Given the description of an element on the screen output the (x, y) to click on. 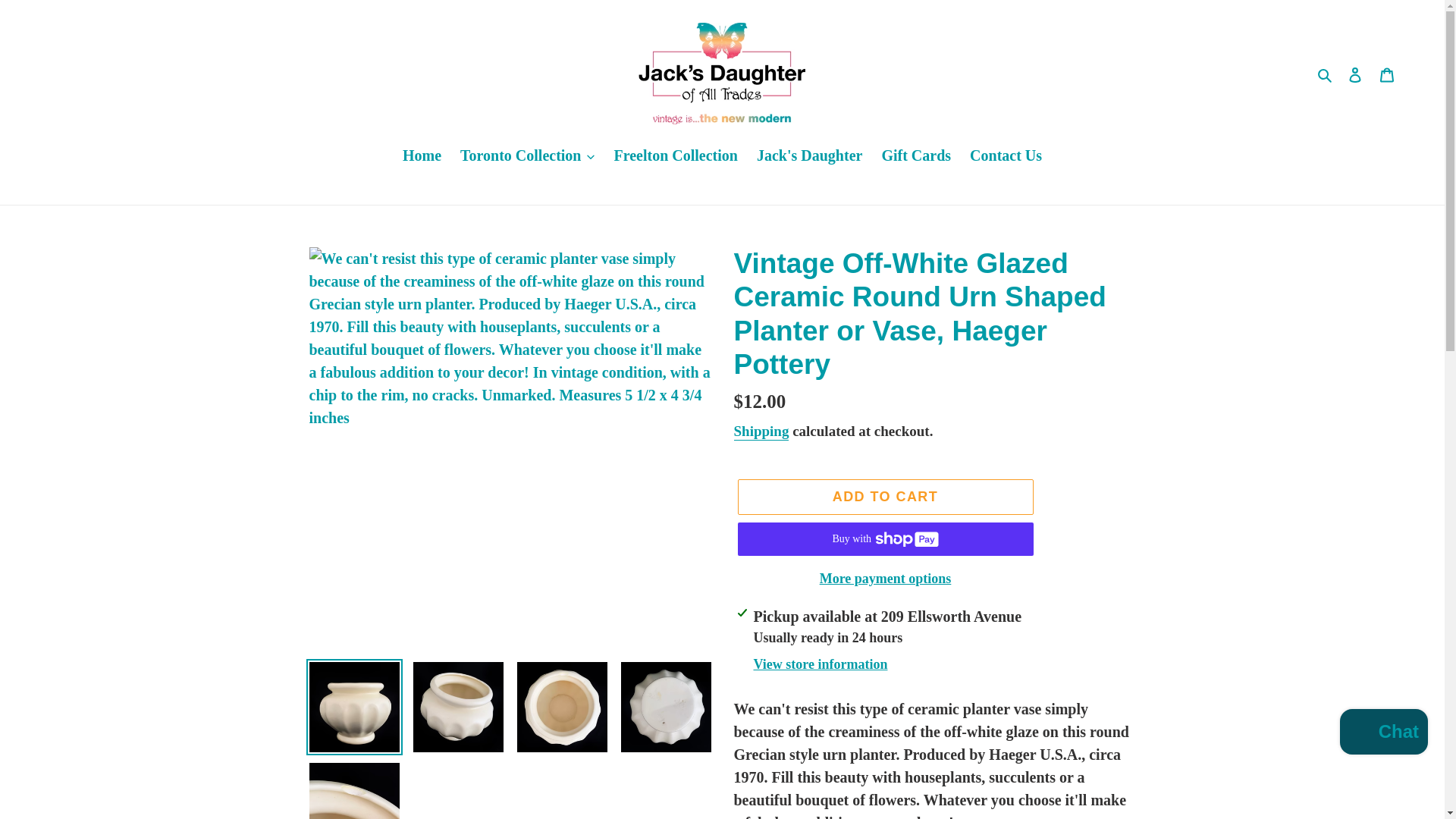
Home (421, 156)
Search (1326, 73)
Shopify online store chat (1383, 733)
Toronto Collection (527, 156)
